Given the description of an element on the screen output the (x, y) to click on. 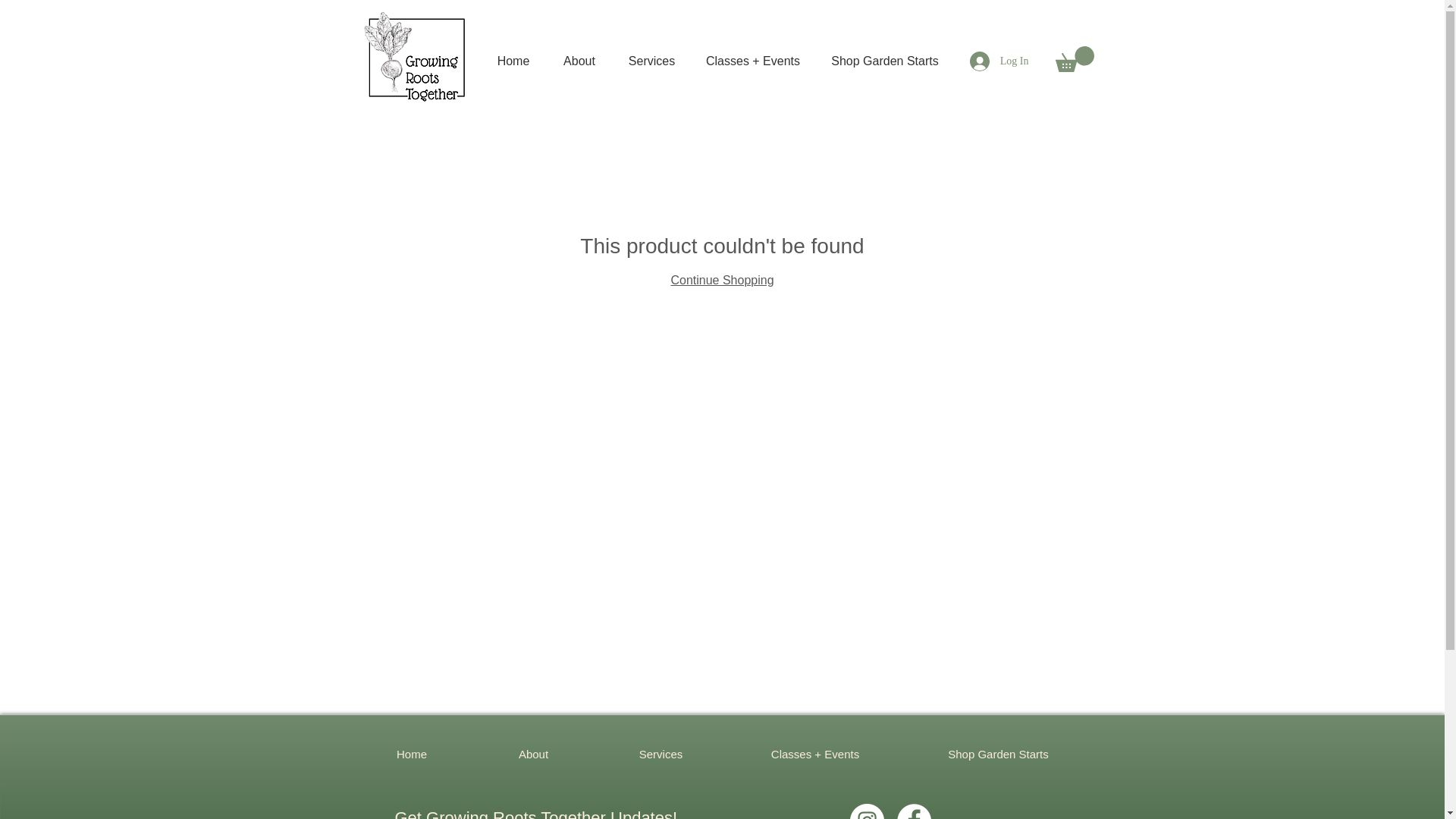
Shop Garden Starts (884, 61)
Shop Garden Starts (997, 754)
About (578, 61)
Log In (999, 61)
Home (513, 61)
About (533, 754)
Services (661, 754)
Home (410, 754)
Services (651, 61)
Continue Shopping (721, 279)
